Given the description of an element on the screen output the (x, y) to click on. 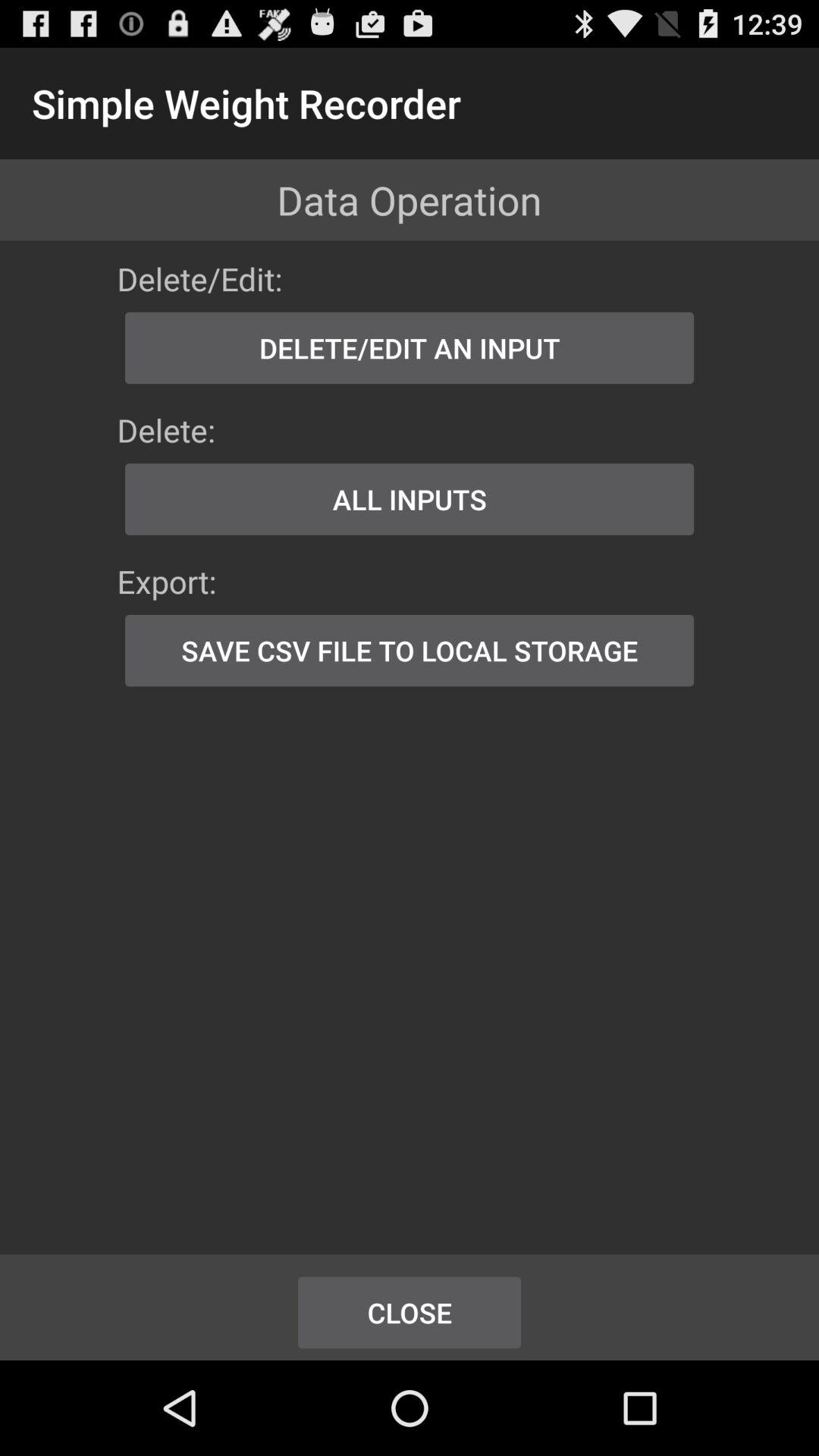
jump to save csv file (409, 650)
